Given the description of an element on the screen output the (x, y) to click on. 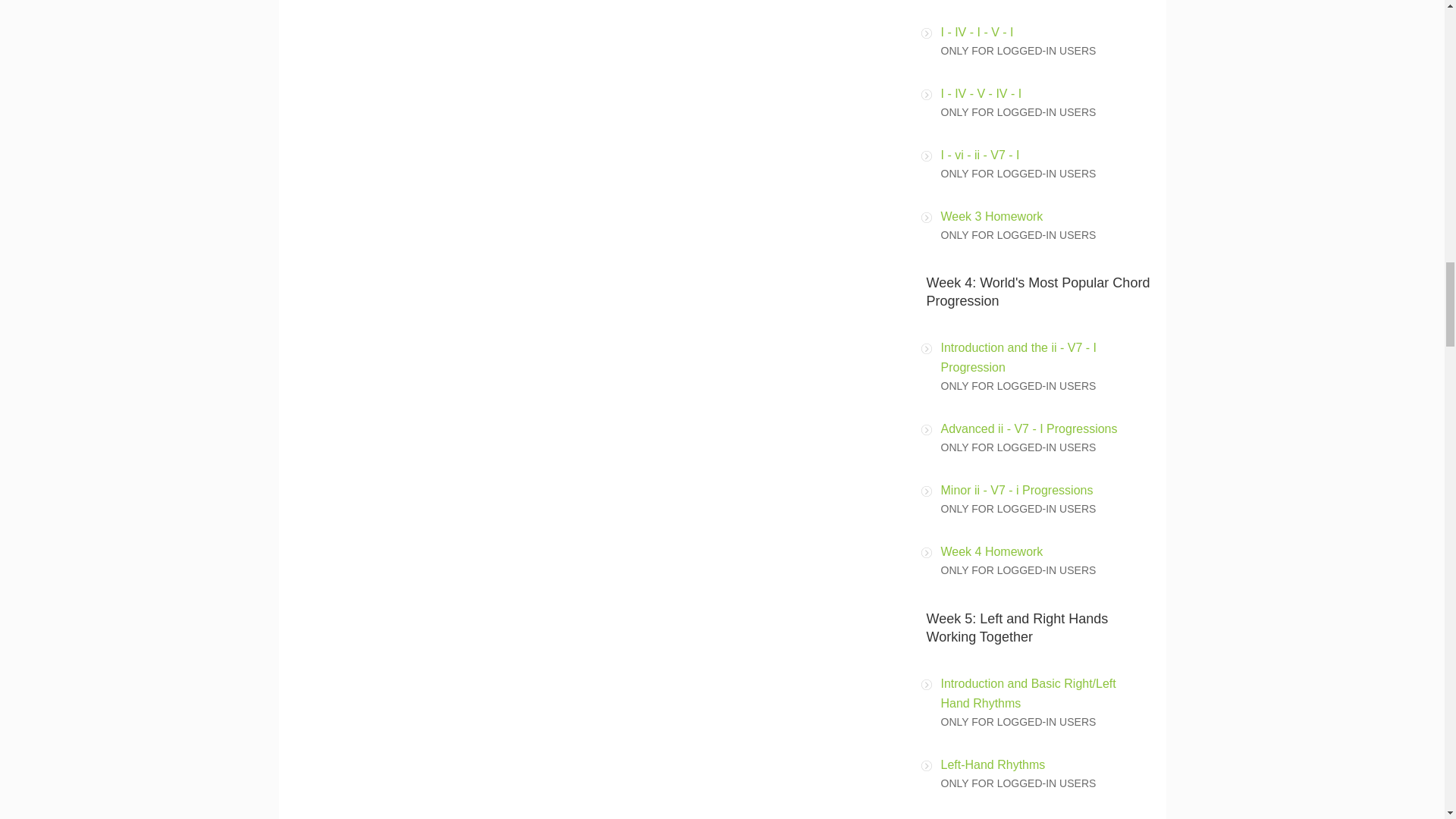
I - IV - V - IV - I (981, 92)
I - vi - ii - V7 - I (979, 154)
I - IV - I - V - I (976, 31)
